Given the description of an element on the screen output the (x, y) to click on. 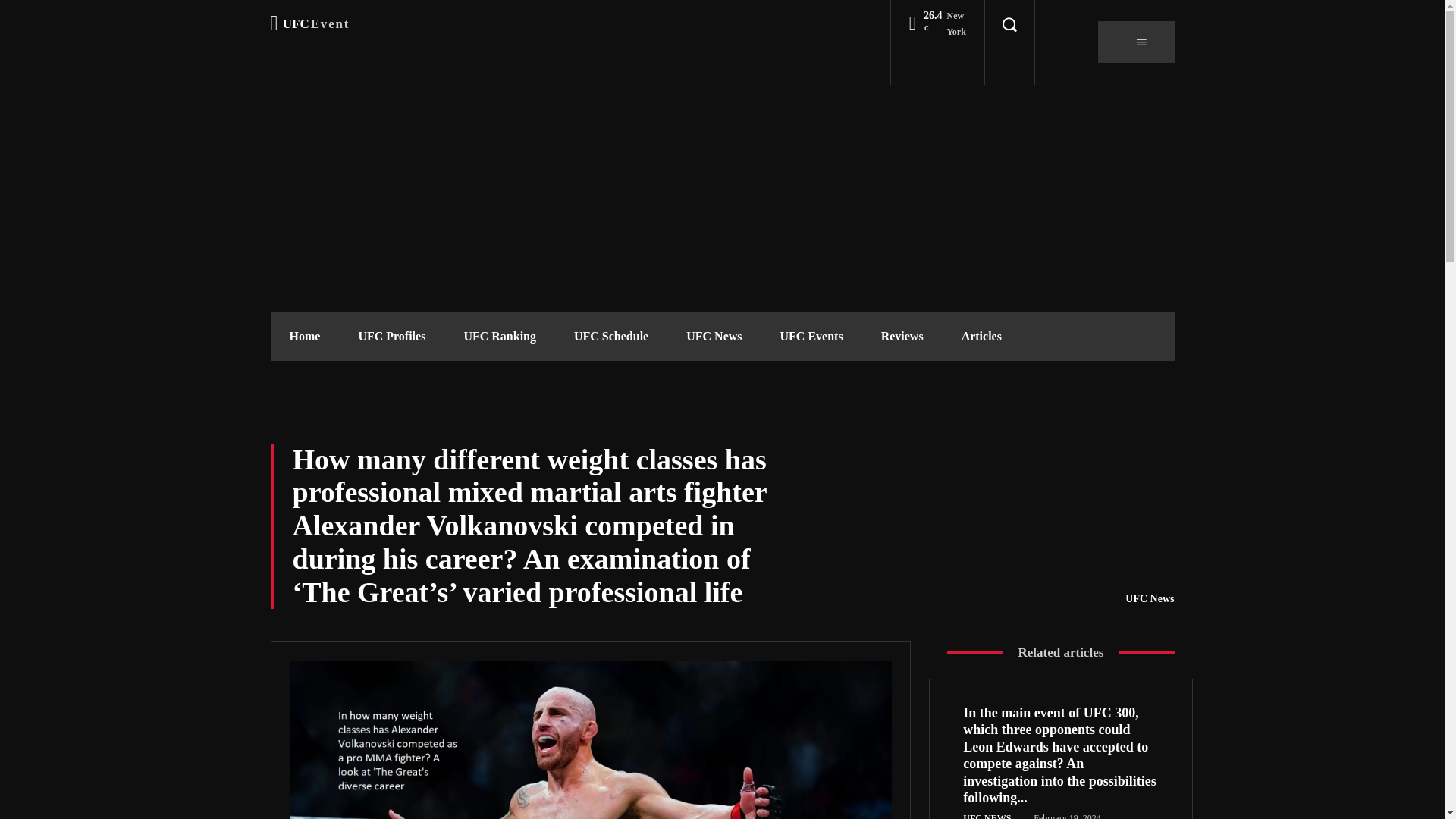
UFC Ranking (499, 336)
Home (304, 336)
Articles (981, 336)
Reviews (901, 336)
UFC Events (811, 336)
UFC News (713, 336)
UFC Profiles (309, 24)
UFC News (391, 336)
UFC Schedule (1149, 598)
Advertisement (610, 336)
